Given the description of an element on the screen output the (x, y) to click on. 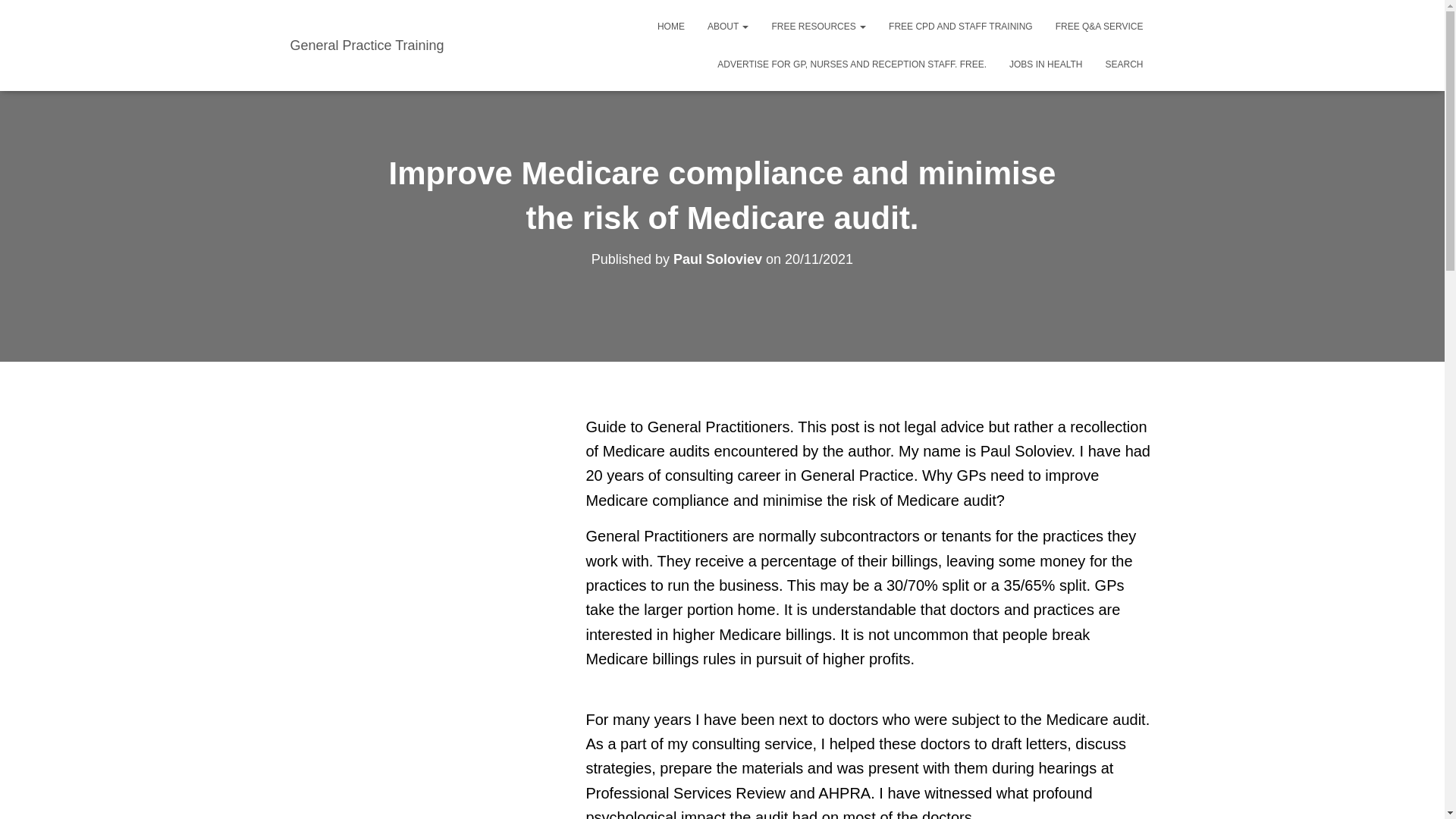
General Practice Training (367, 45)
Home (670, 26)
Free Resources (818, 26)
FREE RESOURCES (818, 26)
FREE CPD AND STAFF TRAINING (960, 26)
HOME (670, 26)
About (727, 26)
SEARCH (1123, 64)
ADVERTISE FOR GP, NURSES AND RECEPTION STAFF. FREE. (851, 64)
General Practice Training (367, 45)
